Given the description of an element on the screen output the (x, y) to click on. 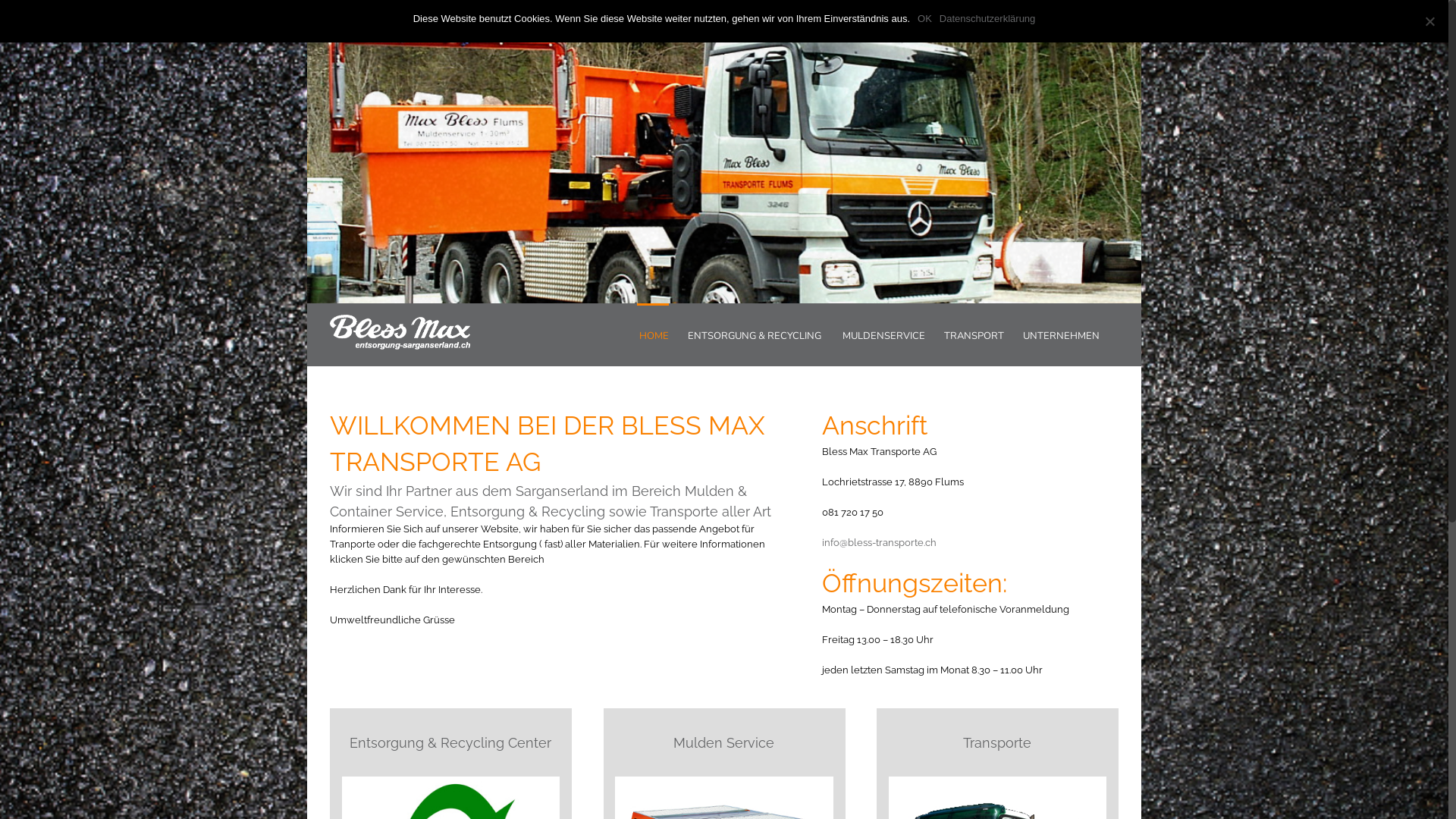
UNTERNEHMEN Element type: text (1060, 334)
info@bless-transporte.ch Element type: text (879, 542)
HOME Element type: text (652, 334)
OK Element type: text (924, 18)
MULDENSERVICE Element type: text (883, 334)
ENTSORGUNG & RECYCLING Element type: text (755, 334)
Toggle Sliding Bar Area Element type: text (1434, 13)
TRANSPORT Element type: text (974, 334)
